Given the description of an element on the screen output the (x, y) to click on. 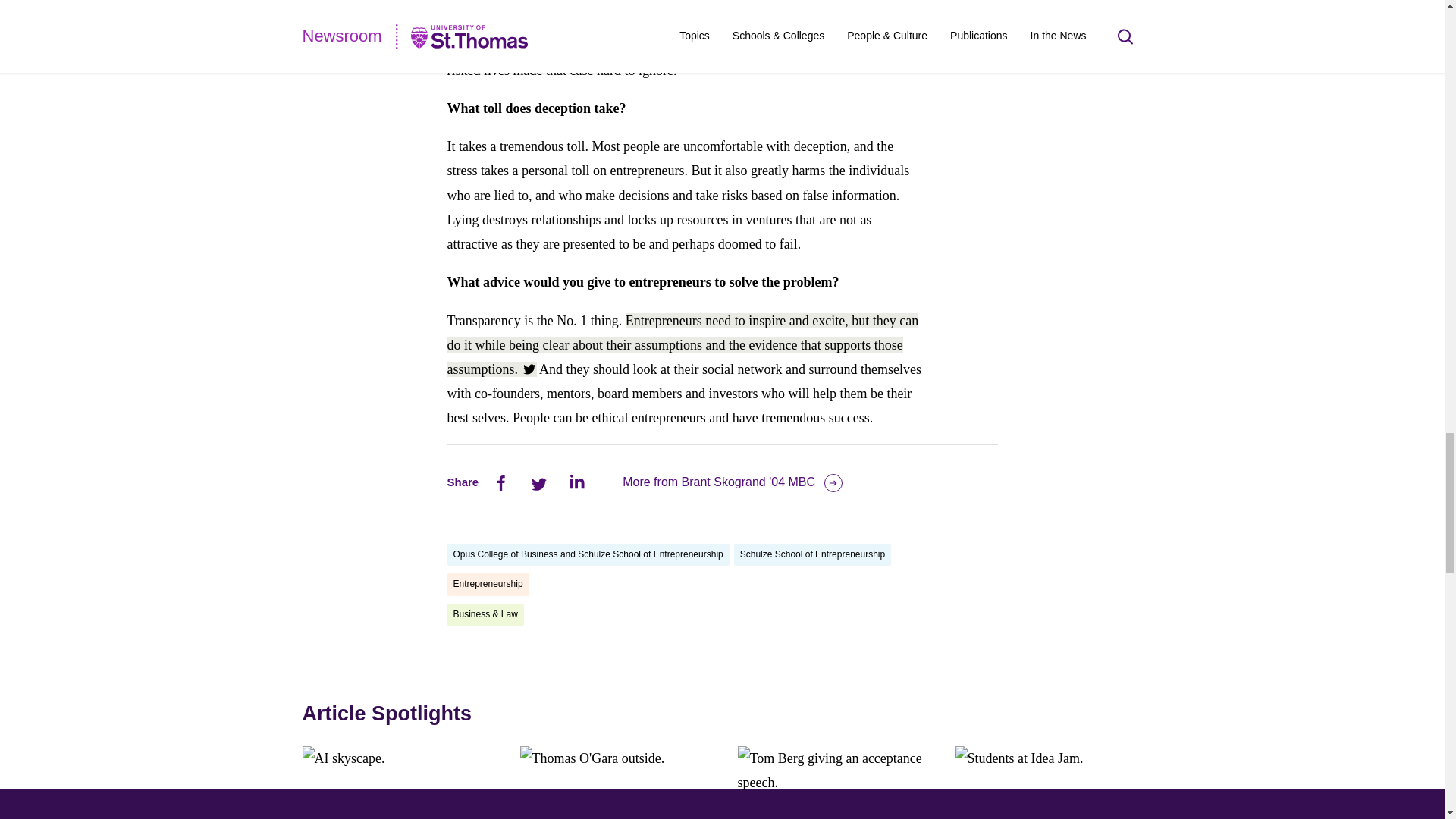
Tweet This! (682, 343)
